Given the description of an element on the screen output the (x, y) to click on. 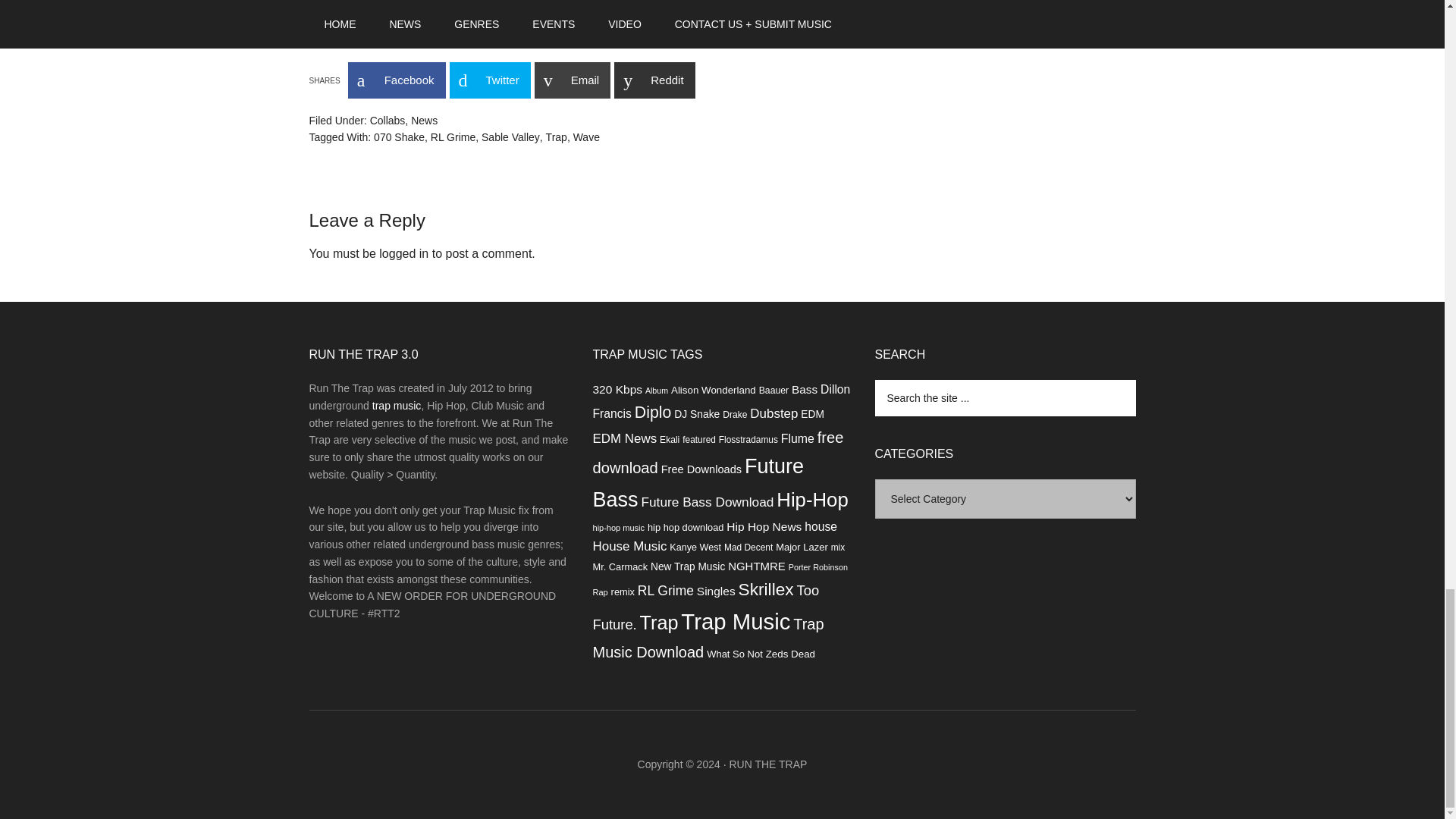
Share on Facebook (396, 80)
Share on Email (572, 80)
Share on Reddit (654, 80)
Share on Twitter (488, 80)
